Given the description of an element on the screen output the (x, y) to click on. 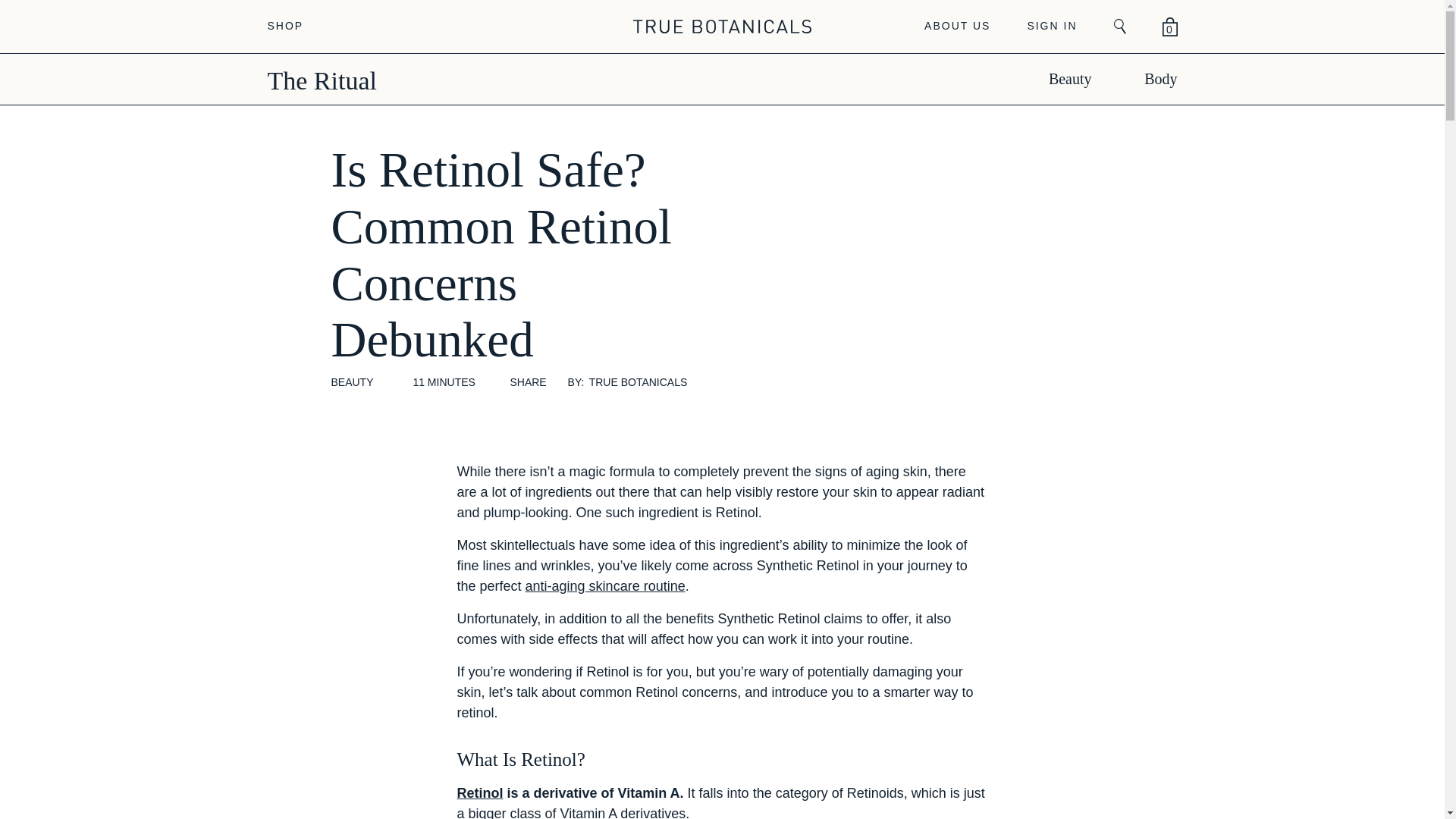
The Ritual (320, 80)
Sign in (1051, 26)
SHARE (527, 382)
Home (721, 26)
Retinol (479, 792)
About our store (957, 26)
ABOUT US (957, 26)
BEAUTY (351, 383)
Body (1147, 79)
SIGN IN (1051, 26)
